Given the description of an element on the screen output the (x, y) to click on. 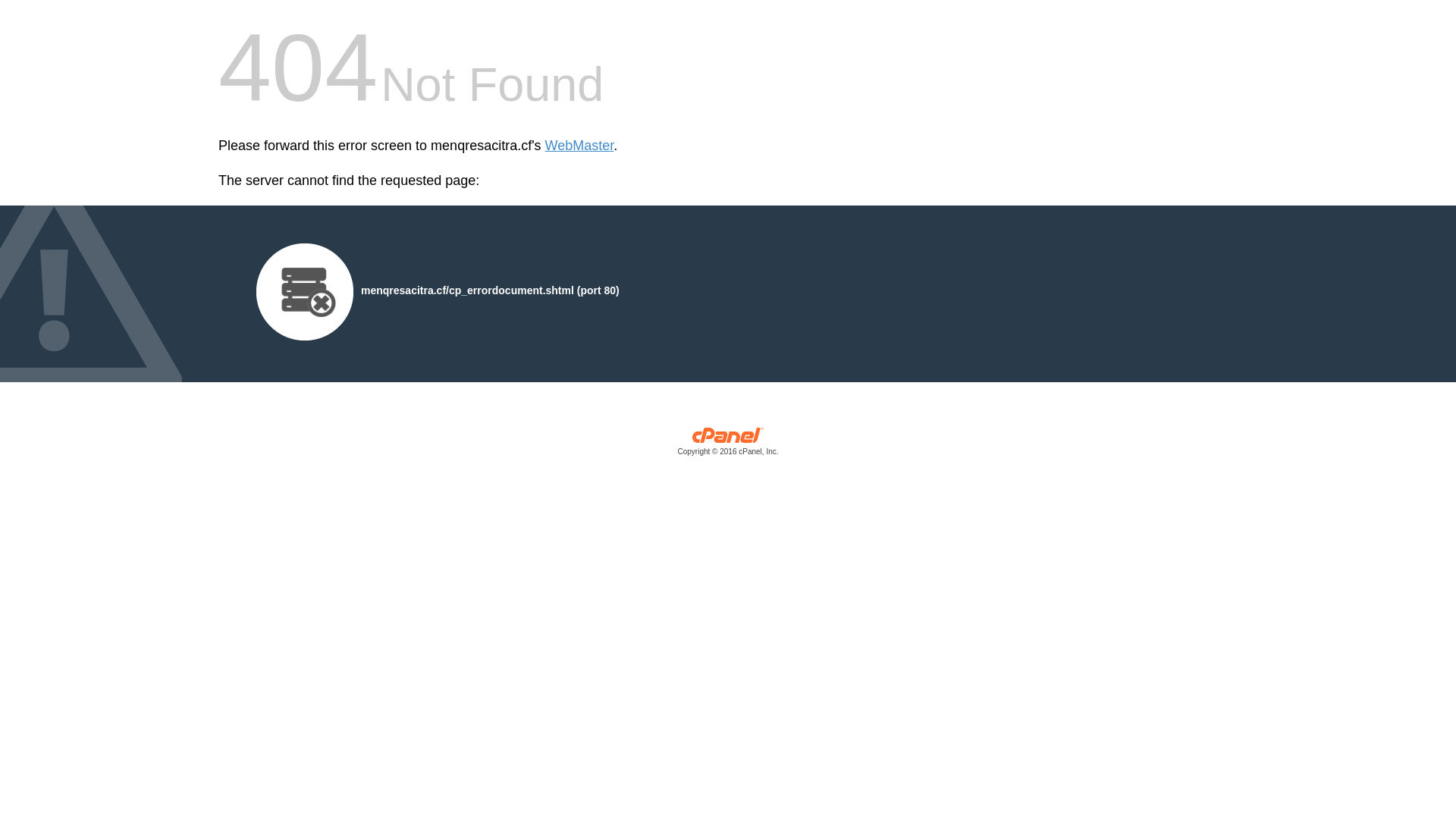
WebMaster Element type: text (579, 145)
